Given the description of an element on the screen output the (x, y) to click on. 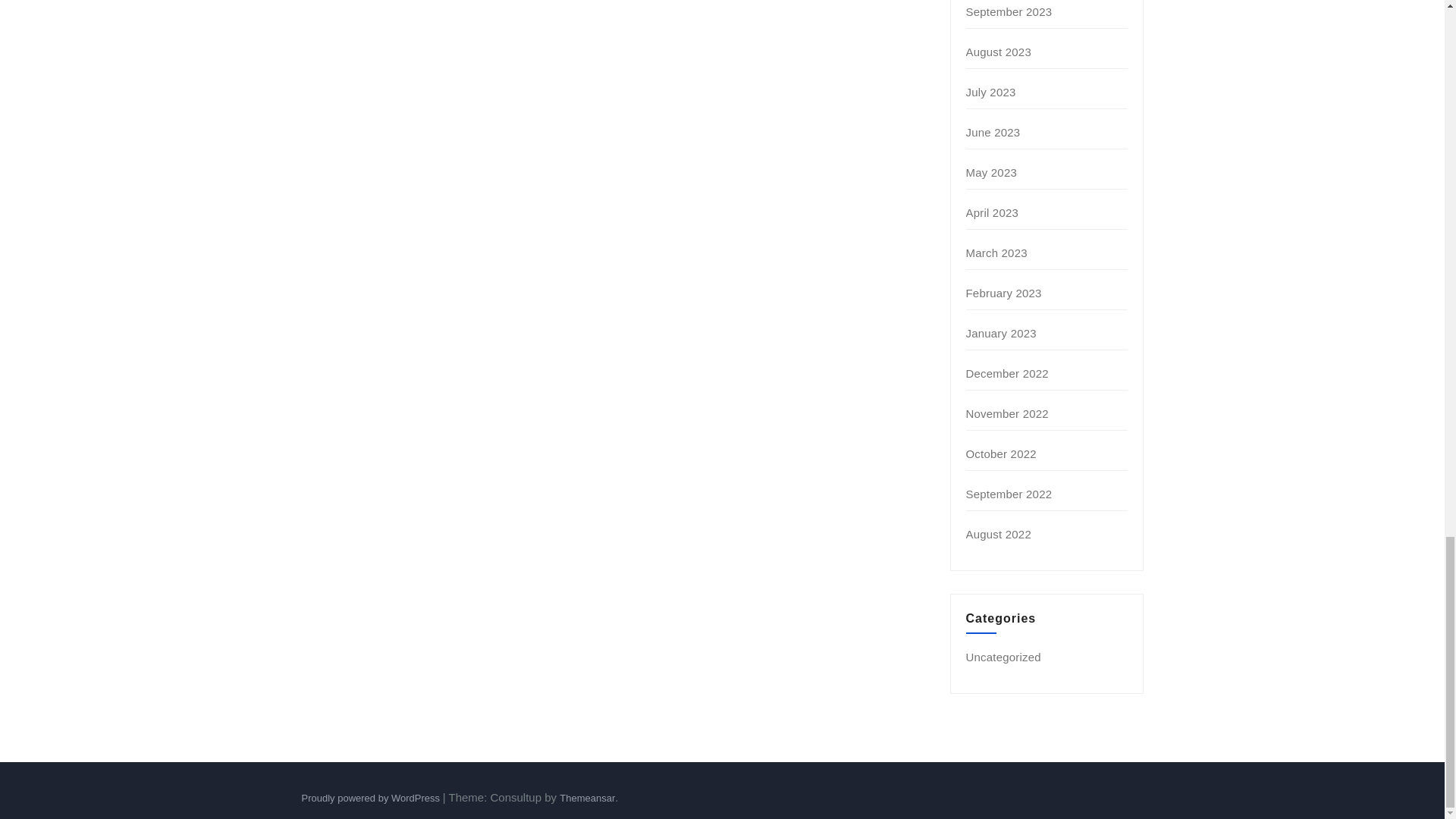
March 2023 (996, 252)
April 2023 (992, 212)
January 2023 (1001, 332)
August 2023 (998, 51)
May 2023 (991, 172)
June 2023 (993, 132)
July 2023 (991, 91)
February 2023 (1004, 292)
September 2023 (1009, 11)
